Given the description of an element on the screen output the (x, y) to click on. 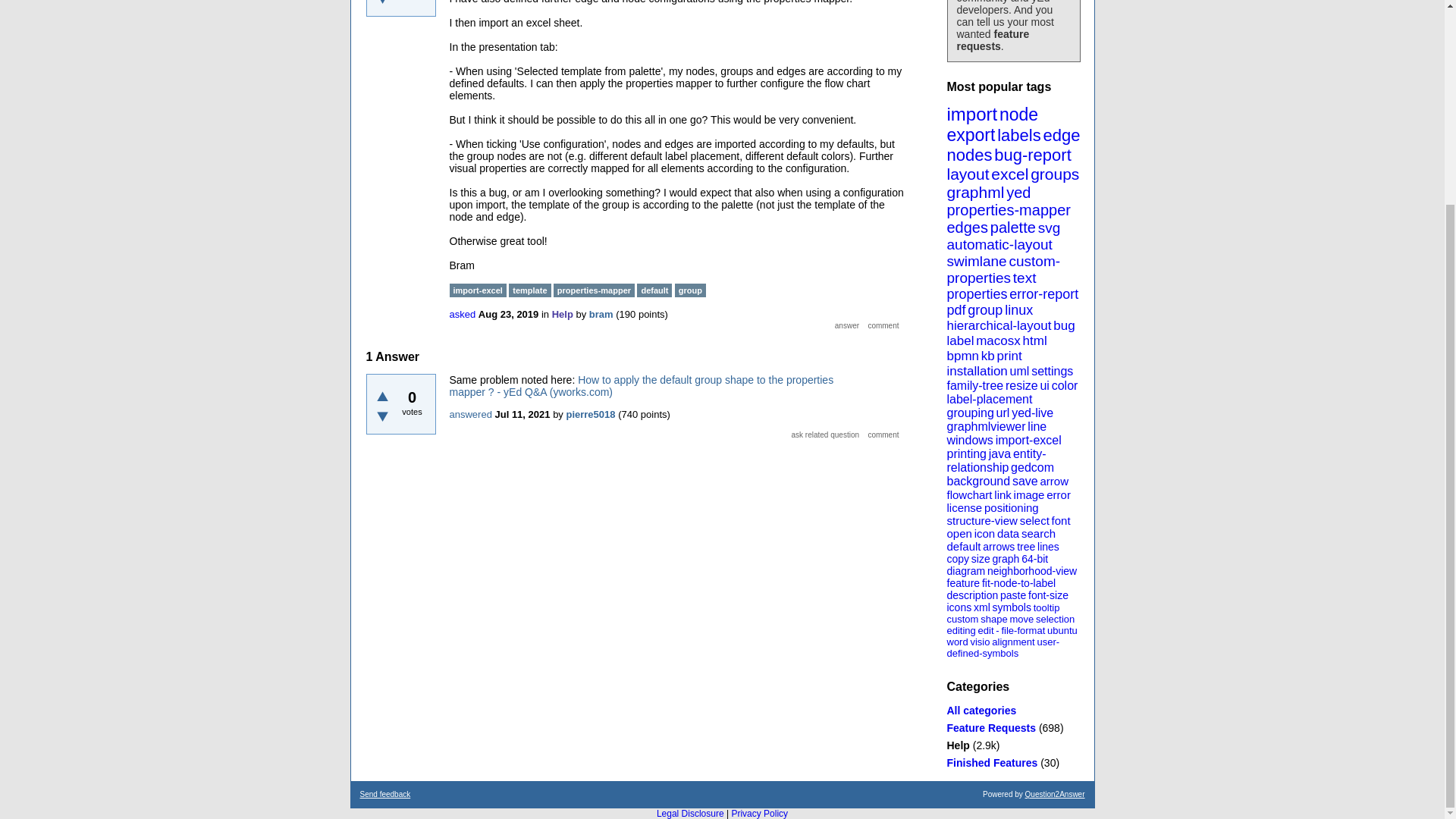
comment (882, 325)
bug (1063, 325)
nodes (968, 154)
yed (1018, 192)
import (971, 114)
custom-properties (1002, 269)
Add a comment on this question (882, 325)
html (1034, 340)
edges (967, 227)
error-report (1043, 294)
macosx (997, 340)
export (970, 134)
group (985, 309)
groups (1054, 173)
palette (1012, 227)
